Given the description of an element on the screen output the (x, y) to click on. 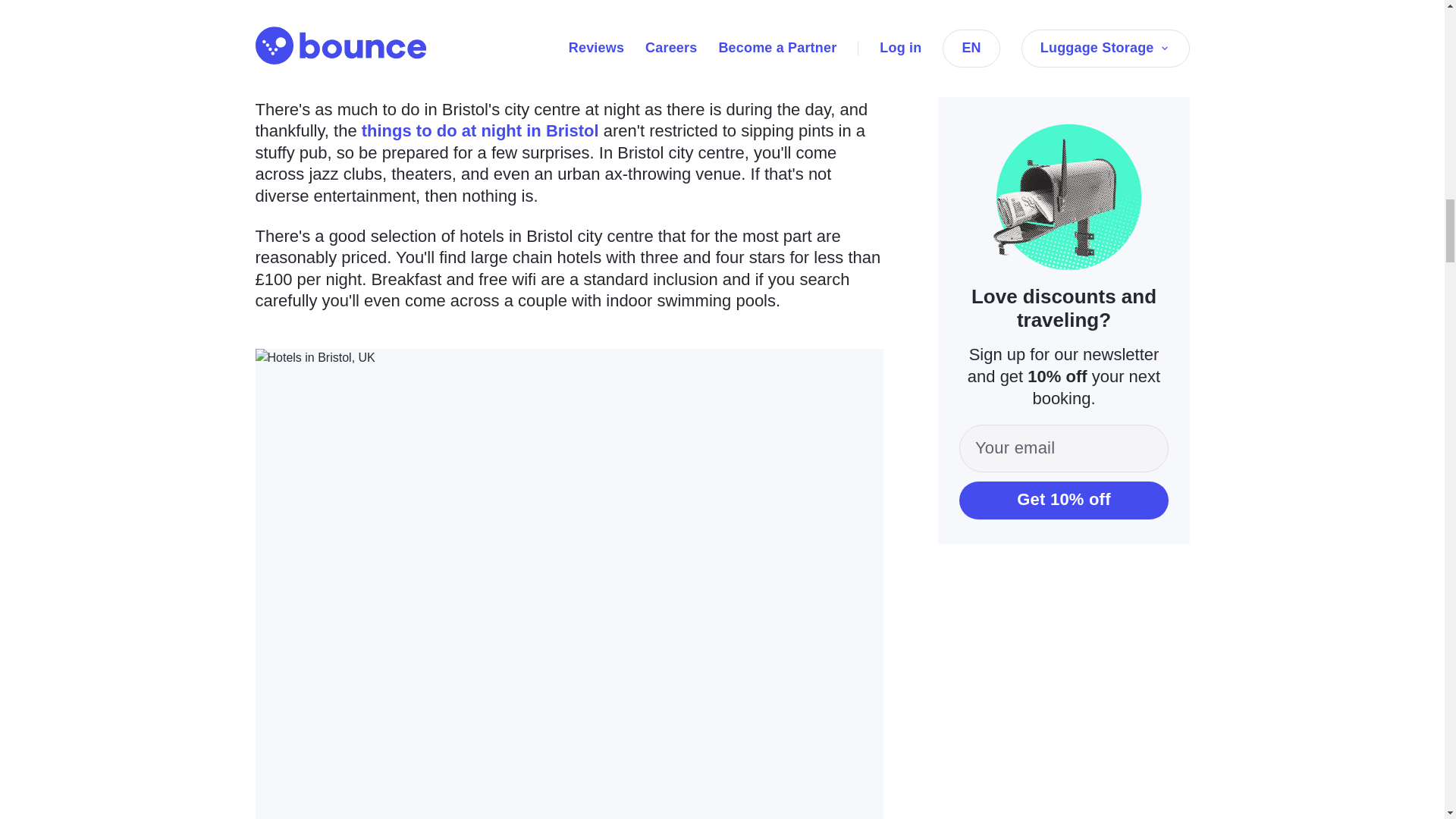
Bristol Museum and Art Gallery (646, 46)
things to do at night in Bristol (479, 130)
